Given the description of an element on the screen output the (x, y) to click on. 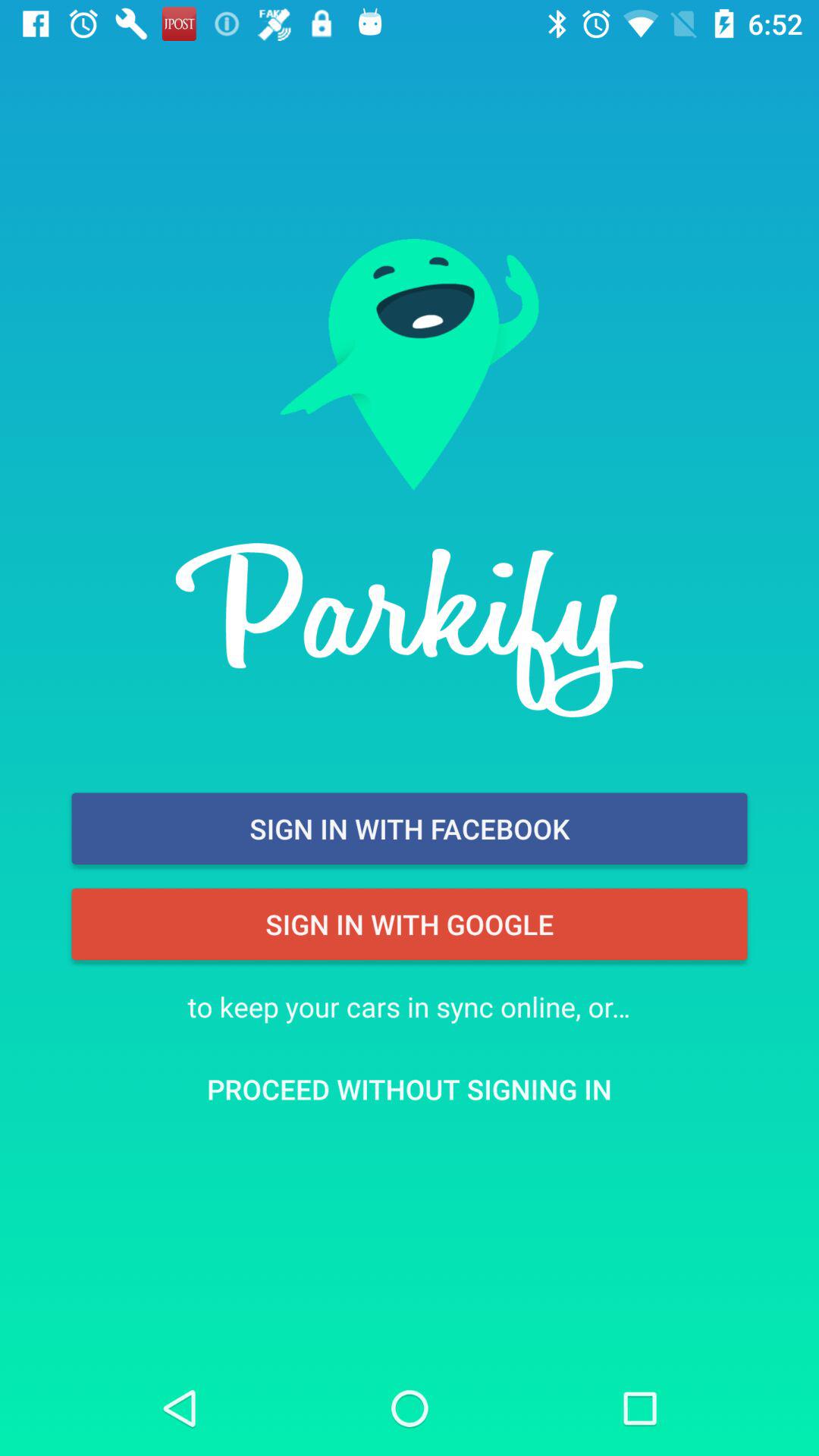
scroll to proceed without signing icon (409, 1088)
